Given the description of an element on the screen output the (x, y) to click on. 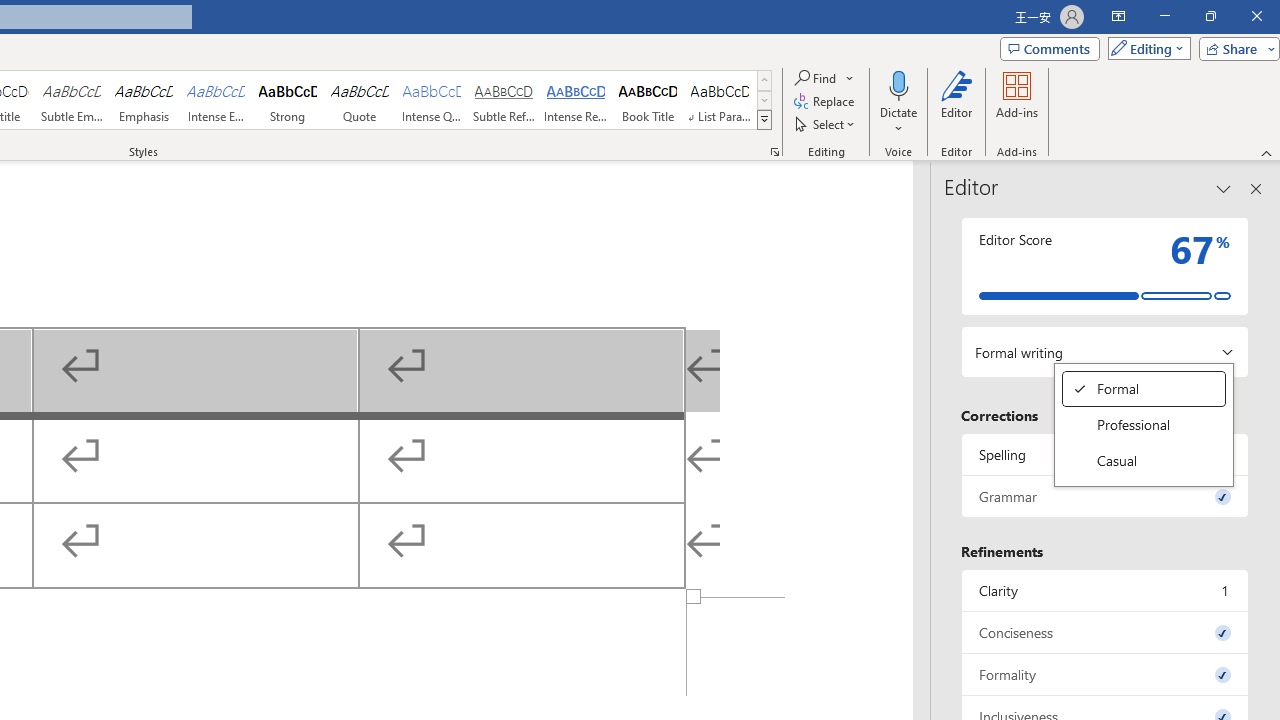
Subtle Emphasis (1144, 424)
Intense Emphasis (71, 100)
Conciseness, 0 issues. Press space or enter to review items. (216, 100)
Formality, 0 issues. Press space or enter to review items. (1144, 388)
